Given the description of an element on the screen output the (x, y) to click on. 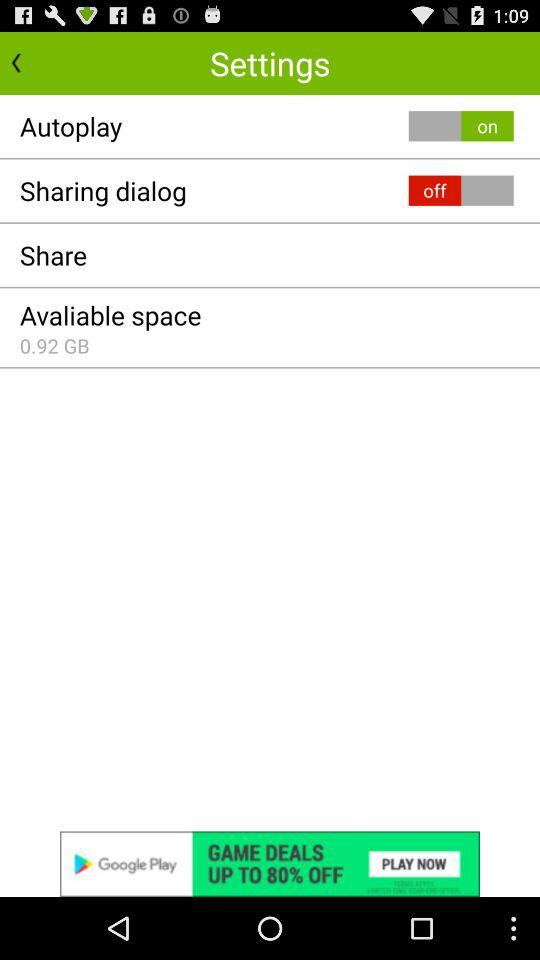
go to google play store (270, 864)
